Given the description of an element on the screen output the (x, y) to click on. 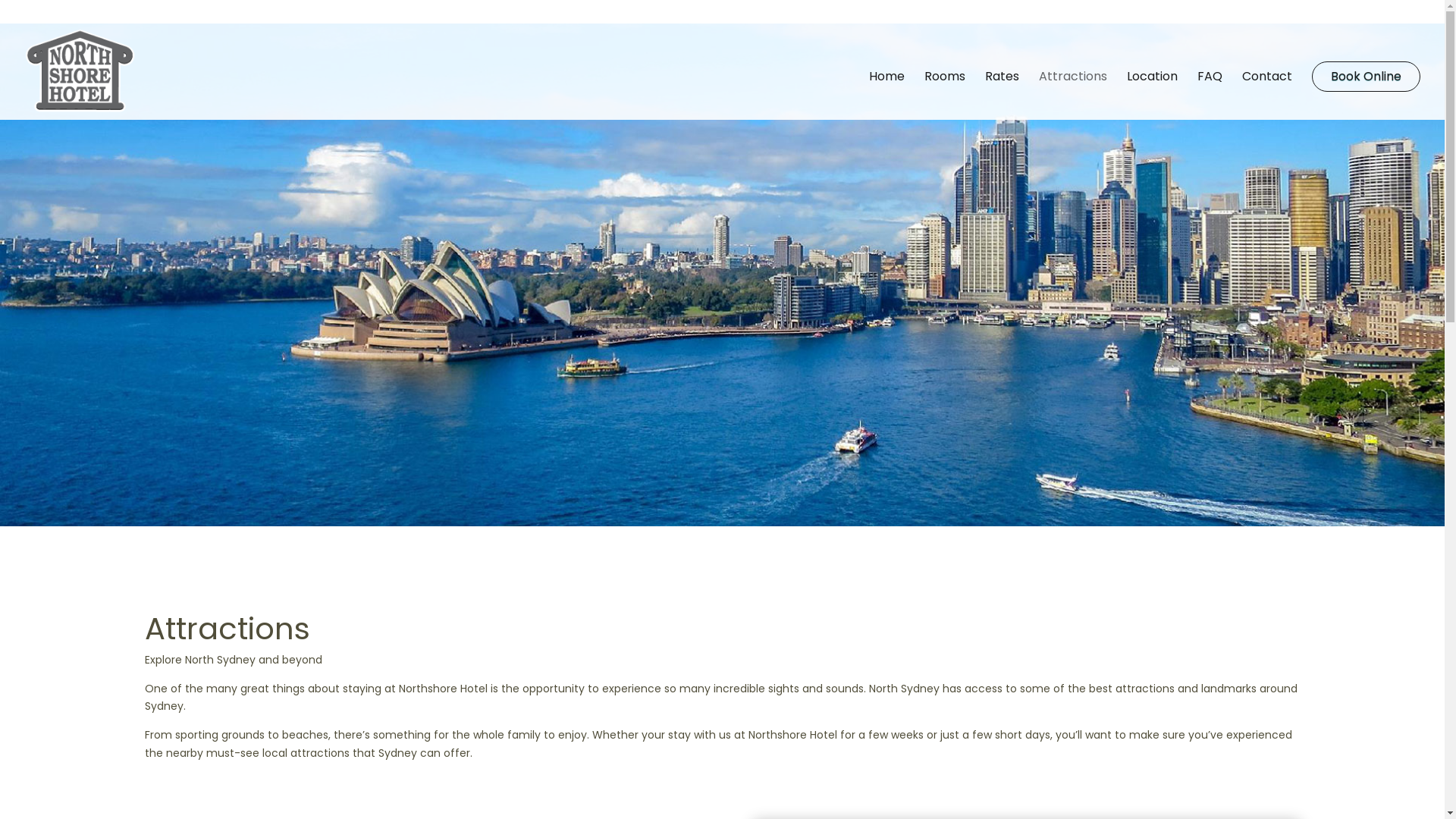
Contact Element type: text (1267, 95)
Location Element type: text (1151, 95)
Book Online Element type: text (1365, 76)
Rates Element type: text (1002, 95)
FAQ Element type: text (1209, 95)
res@northshorehotel.com.au Element type: text (379, 11)
Home Element type: text (886, 95)
Rooms Element type: text (944, 95)
Attractions Element type: text (1072, 95)
+61 (0) 2 9955 1012 Element type: text (76, 11)
